Given the description of an element on the screen output the (x, y) to click on. 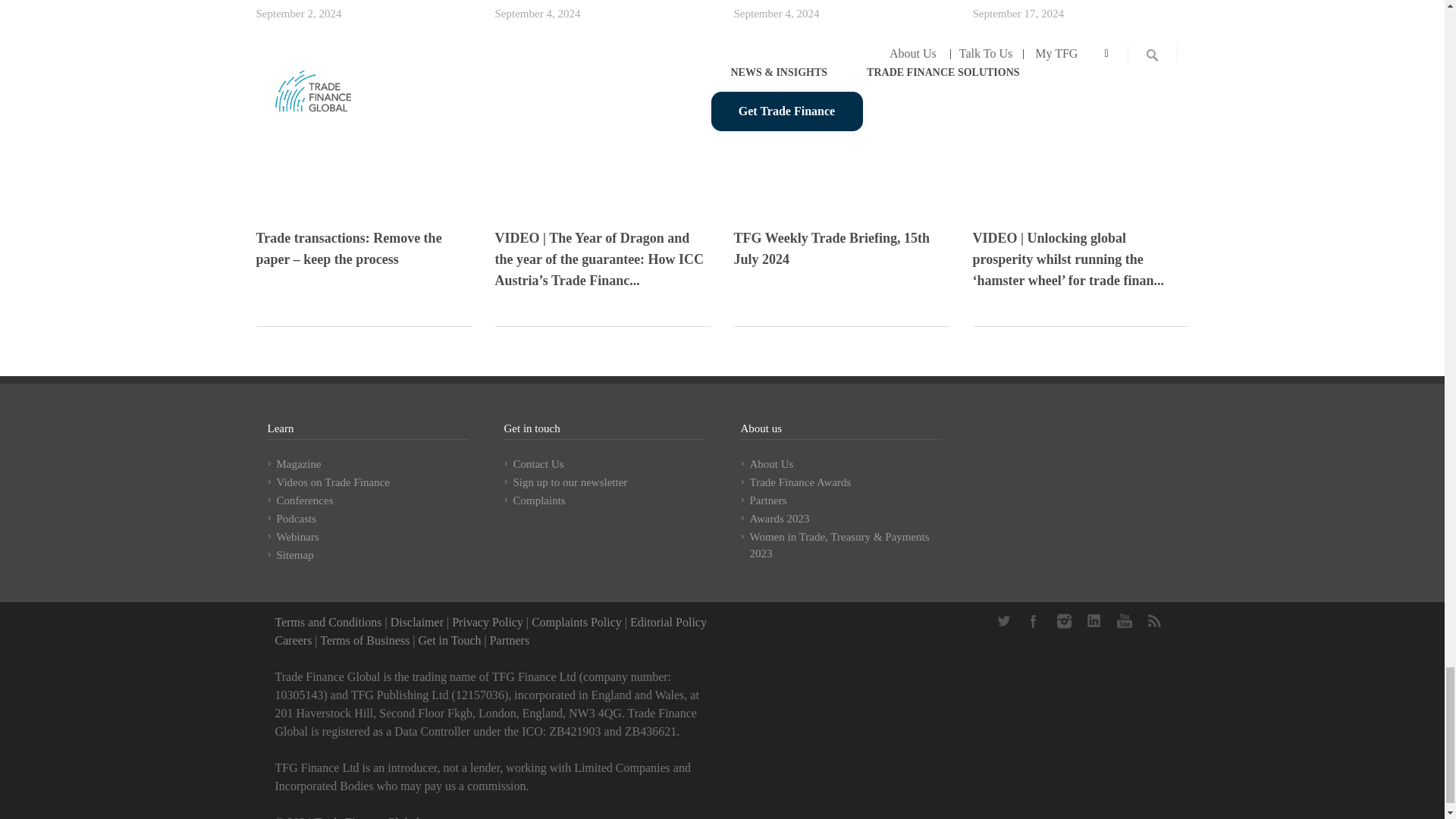
Trade Finance Jobs (293, 640)
Disclaimer (417, 621)
Editorial Policy (668, 621)
Terms of Business (364, 640)
Privacy Policy (486, 621)
Complaints Policy (576, 621)
Terms and Conditions (328, 621)
